Given the description of an element on the screen output the (x, y) to click on. 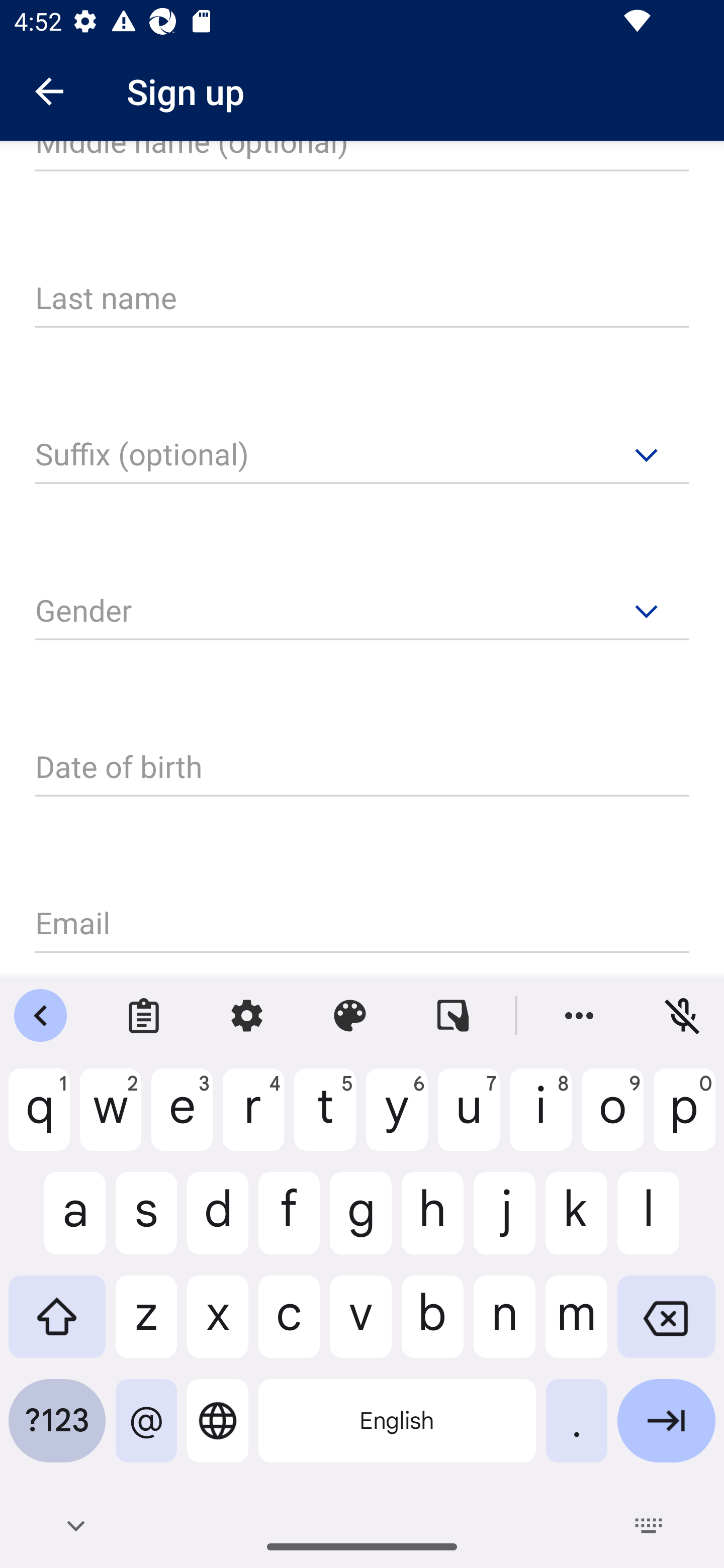
Navigate up (49, 91)
Last name (361, 299)
Suffix (optional) (361, 455)
Gender (361, 611)
Date of birth (361, 767)
Email (361, 924)
